Given the description of an element on the screen output the (x, y) to click on. 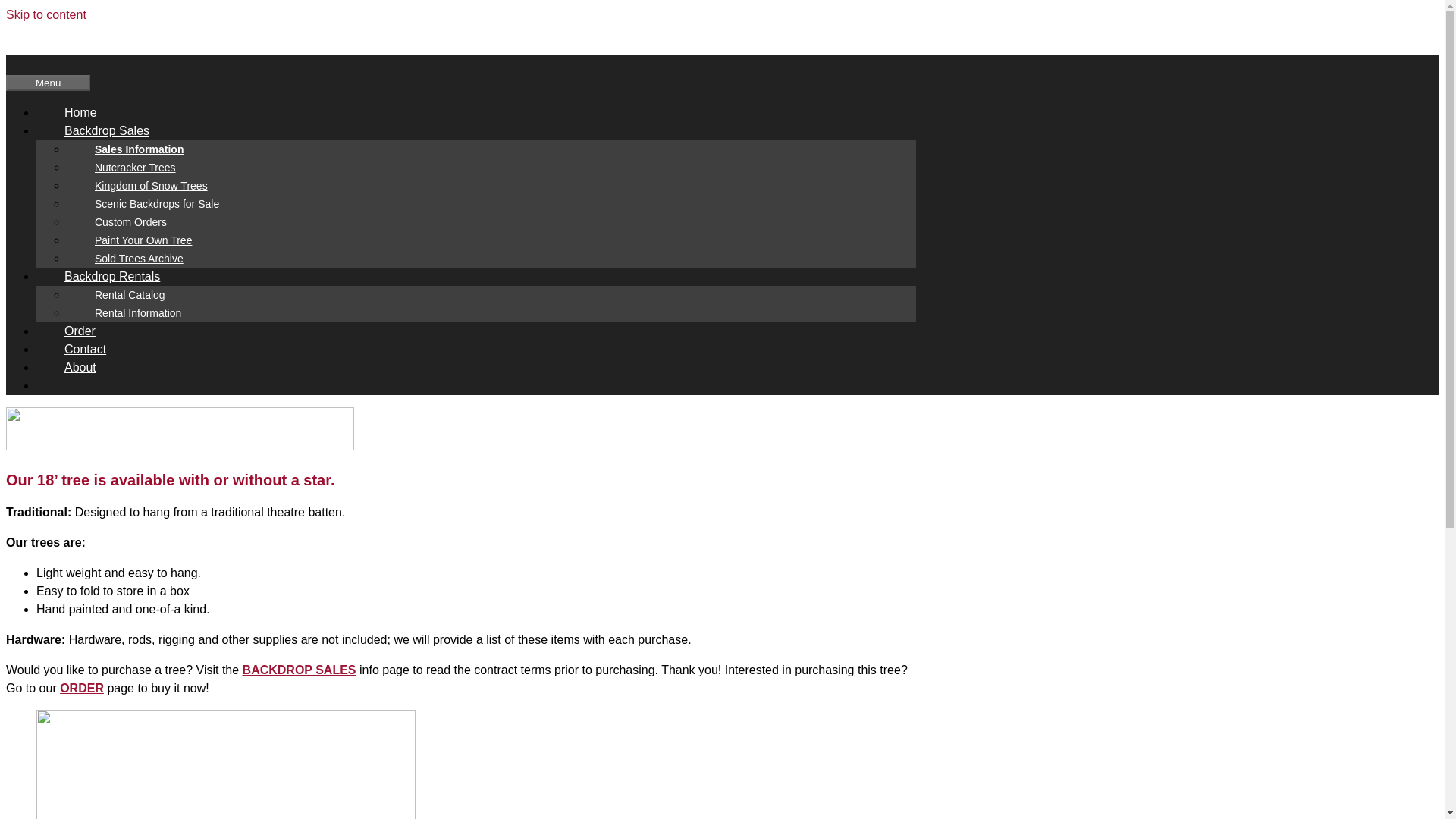
Rental Information (137, 312)
BACKDROP SALES (299, 669)
Home (80, 112)
Kingdom of Snow Trees (150, 185)
ORDER (81, 687)
About (79, 367)
Backdrop Rentals (125, 276)
Backdrop Sales (120, 130)
Order (79, 330)
Sold Trees Archive (138, 257)
Rental Catalog (129, 294)
Menu (47, 82)
Contact (84, 349)
Custom Orders (130, 221)
Nutcracker Trees (134, 166)
